Given the description of an element on the screen output the (x, y) to click on. 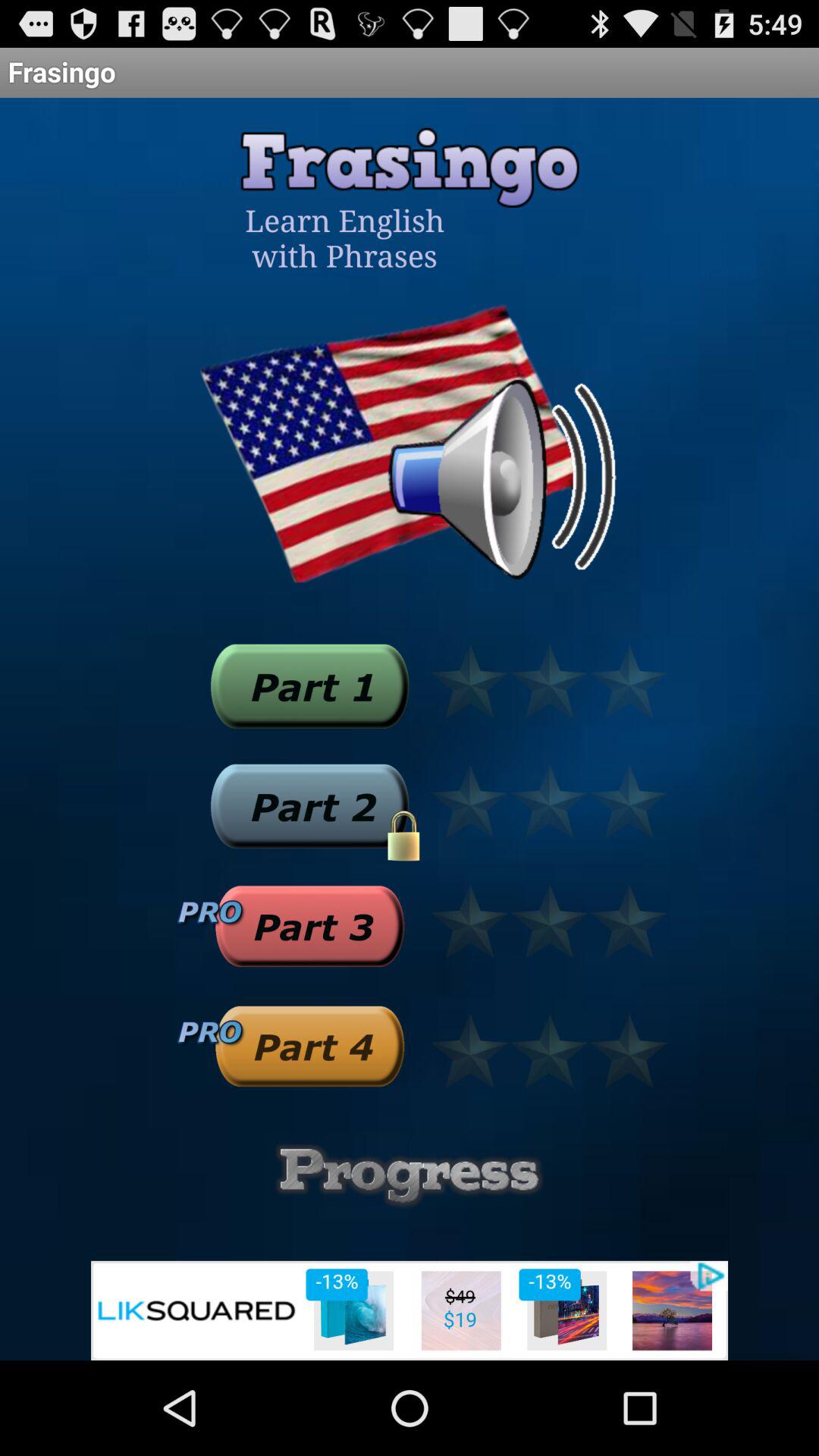
part 3 lessons (309, 926)
